Given the description of an element on the screen output the (x, y) to click on. 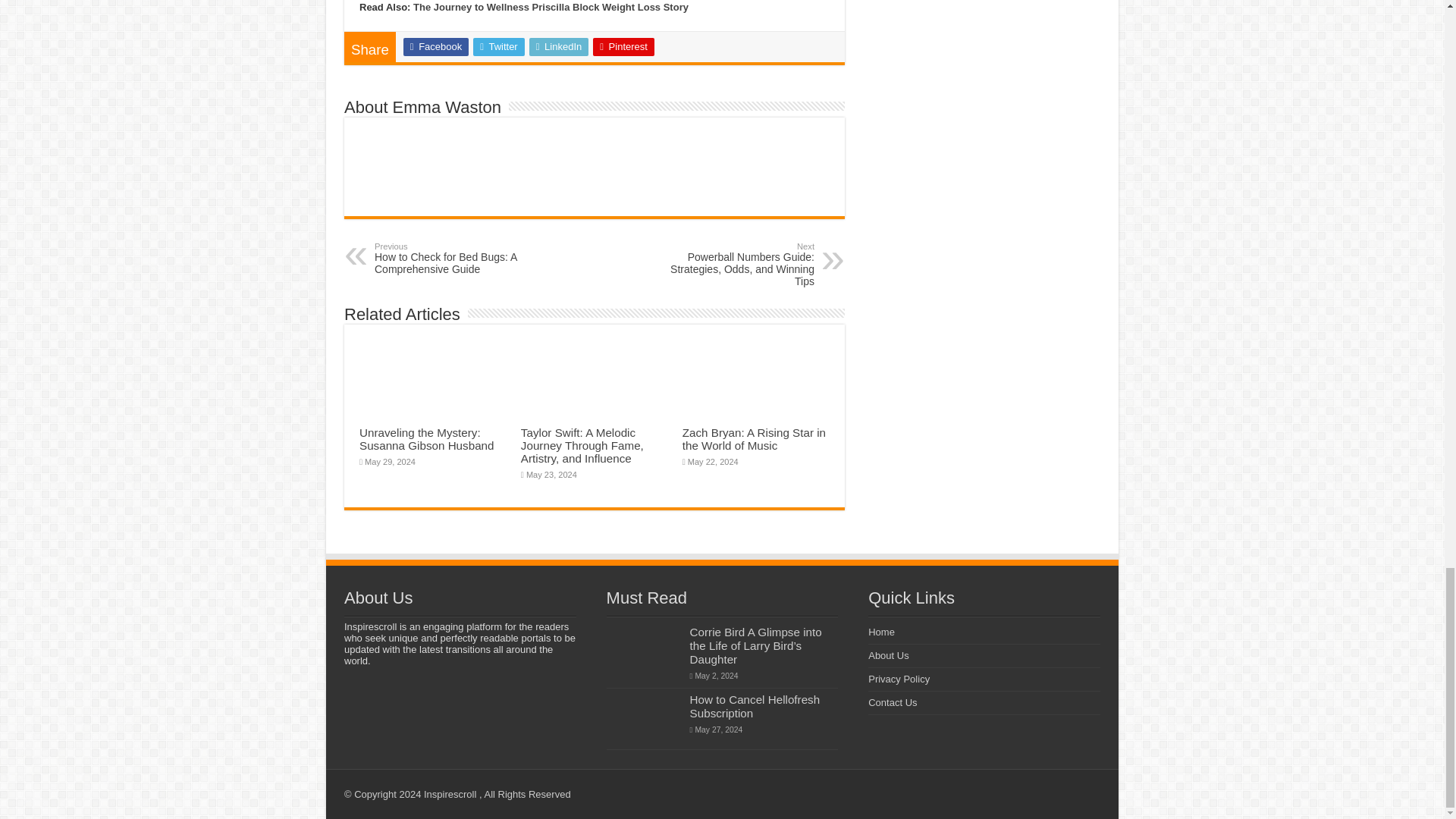
LinkedIn (559, 46)
Facebook (435, 46)
The Journey to Wellness Priscilla Block Weight Loss Story (550, 7)
Twitter (498, 46)
